Given the description of an element on the screen output the (x, y) to click on. 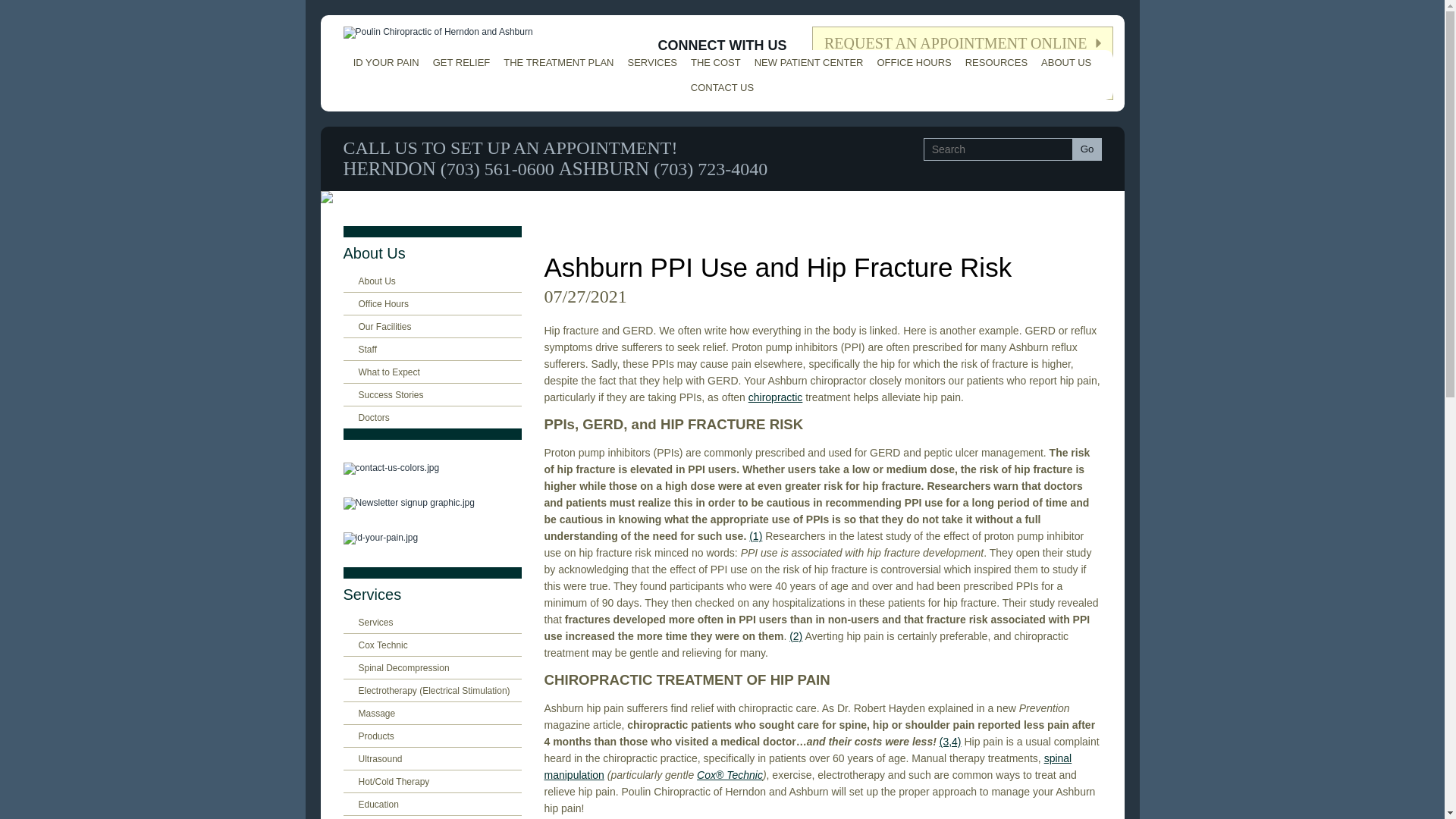
Newsletter signup graphic.jpg (431, 503)
SERVICES (652, 62)
PATIENT TESTIMONIALS (962, 83)
YouTube (711, 74)
Yelp (746, 74)
THE TREATMENT PLAN (558, 62)
Facebook (679, 84)
REQUEST AN APPOINTMENT ONLINE (962, 41)
GET RELIEF (461, 62)
Go (1087, 149)
